Given the description of an element on the screen output the (x, y) to click on. 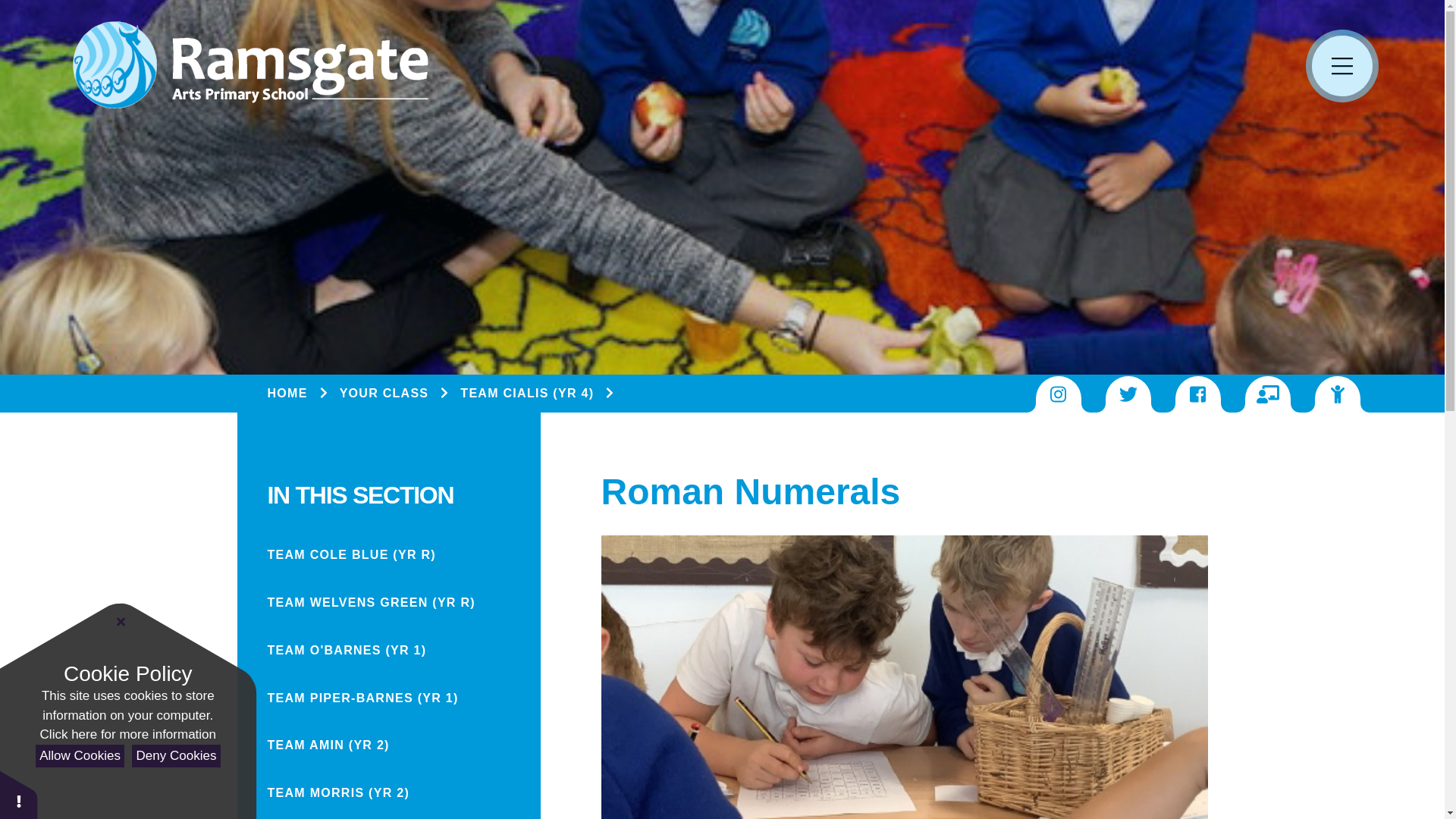
Allow Cookies (78, 756)
Deny Cookies (175, 756)
See cookie policy (127, 734)
